Given the description of an element on the screen output the (x, y) to click on. 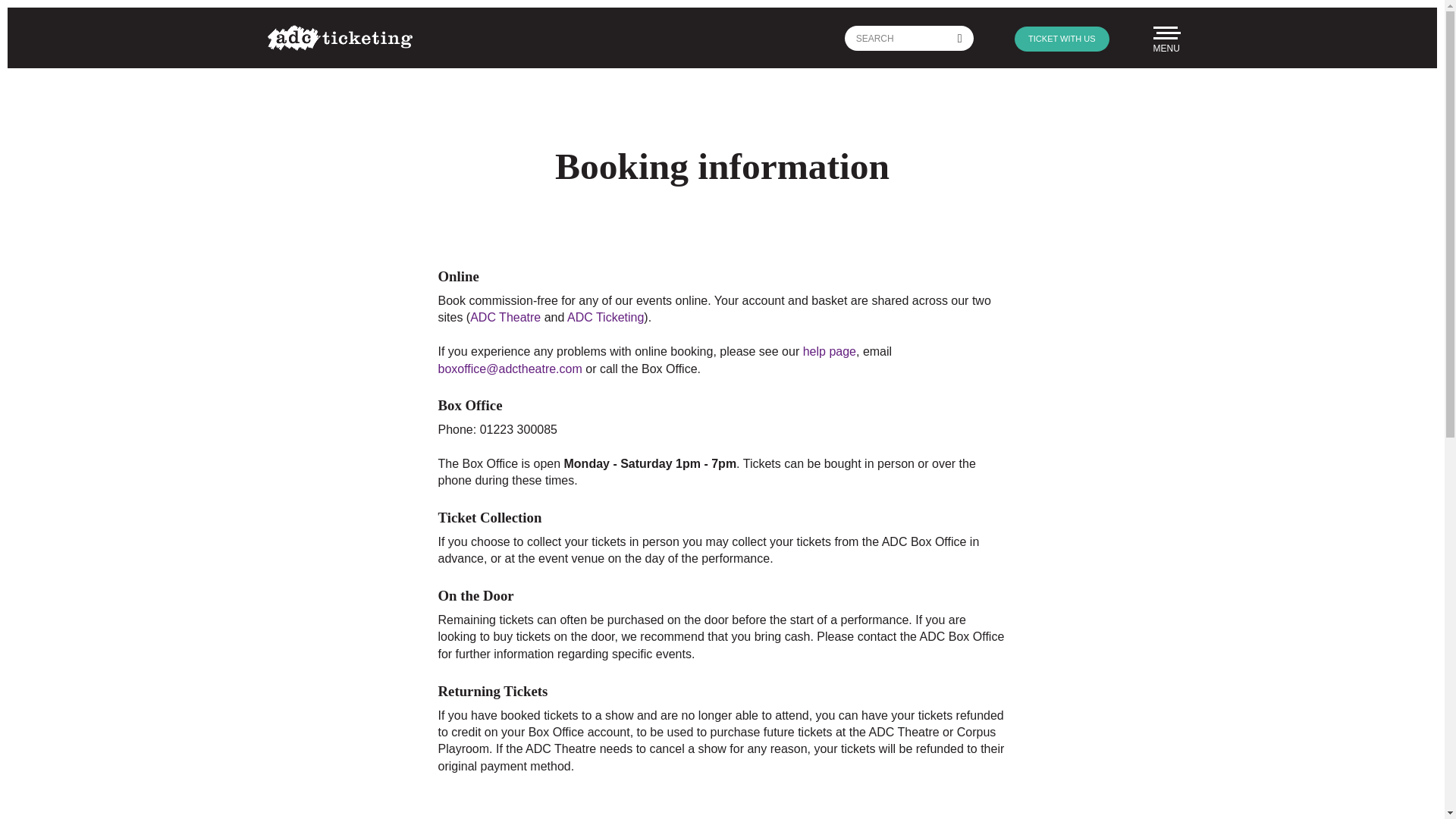
Menu (1164, 37)
ADC Ticketing (603, 317)
ADC Ticketing (603, 317)
ADC Theatre (505, 317)
TICKET WITH US (1061, 37)
help page (829, 350)
Go (960, 38)
ADC Theatre (505, 317)
Help (829, 350)
